Given the description of an element on the screen output the (x, y) to click on. 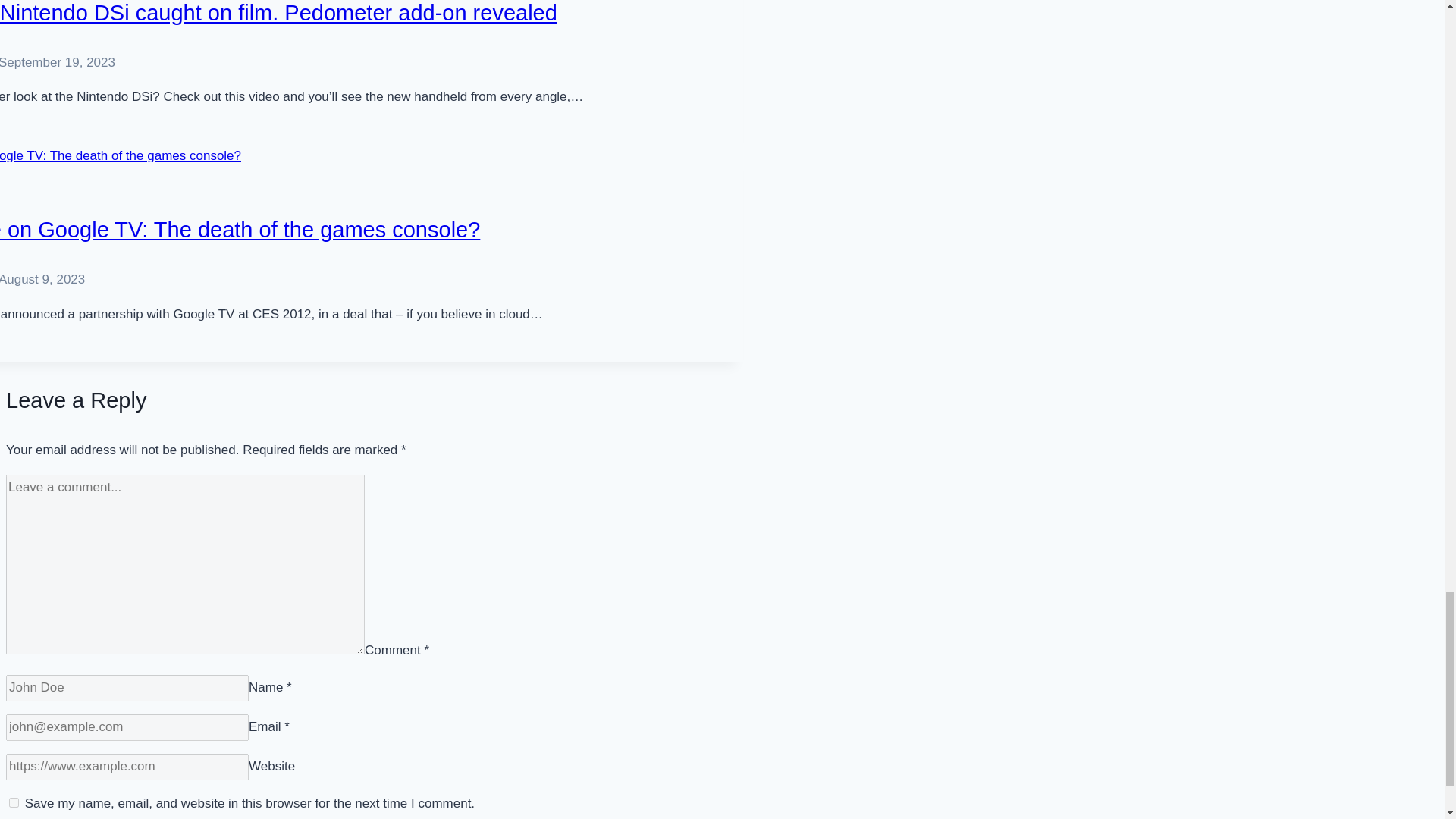
yes (13, 802)
OnLive on Google TV: The death of the games console? (240, 229)
